Given the description of an element on the screen output the (x, y) to click on. 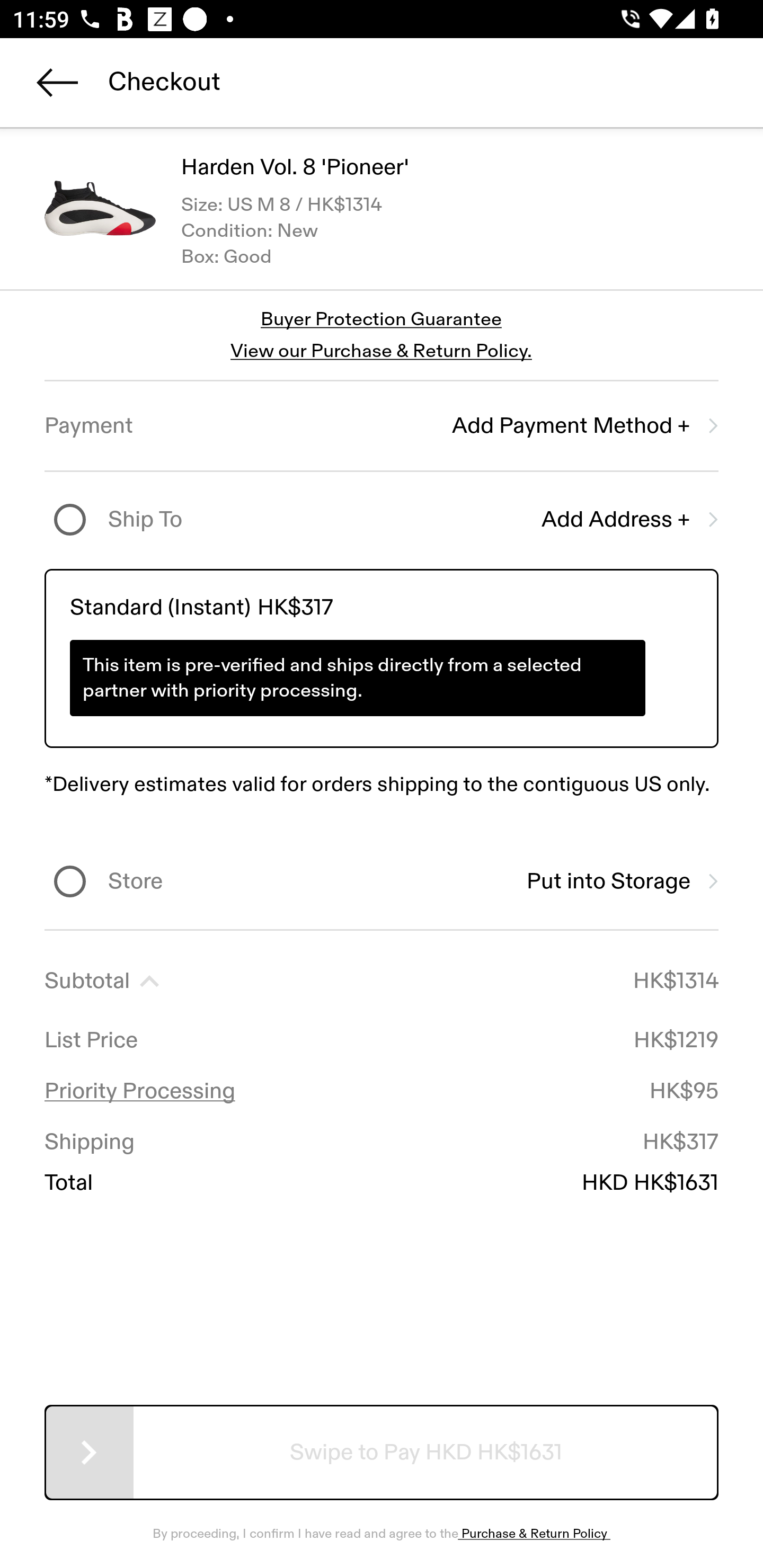
Navigate up (56, 82)
Buyer Protection Guarantee (381, 319)
View our Purchase & Return Policy. (380, 350)
Payment Add Payment Method + (381, 425)
Subtotal HK$1314 (381, 981)
Priority Processing HK$95 (381, 1091)
